Given the description of an element on the screen output the (x, y) to click on. 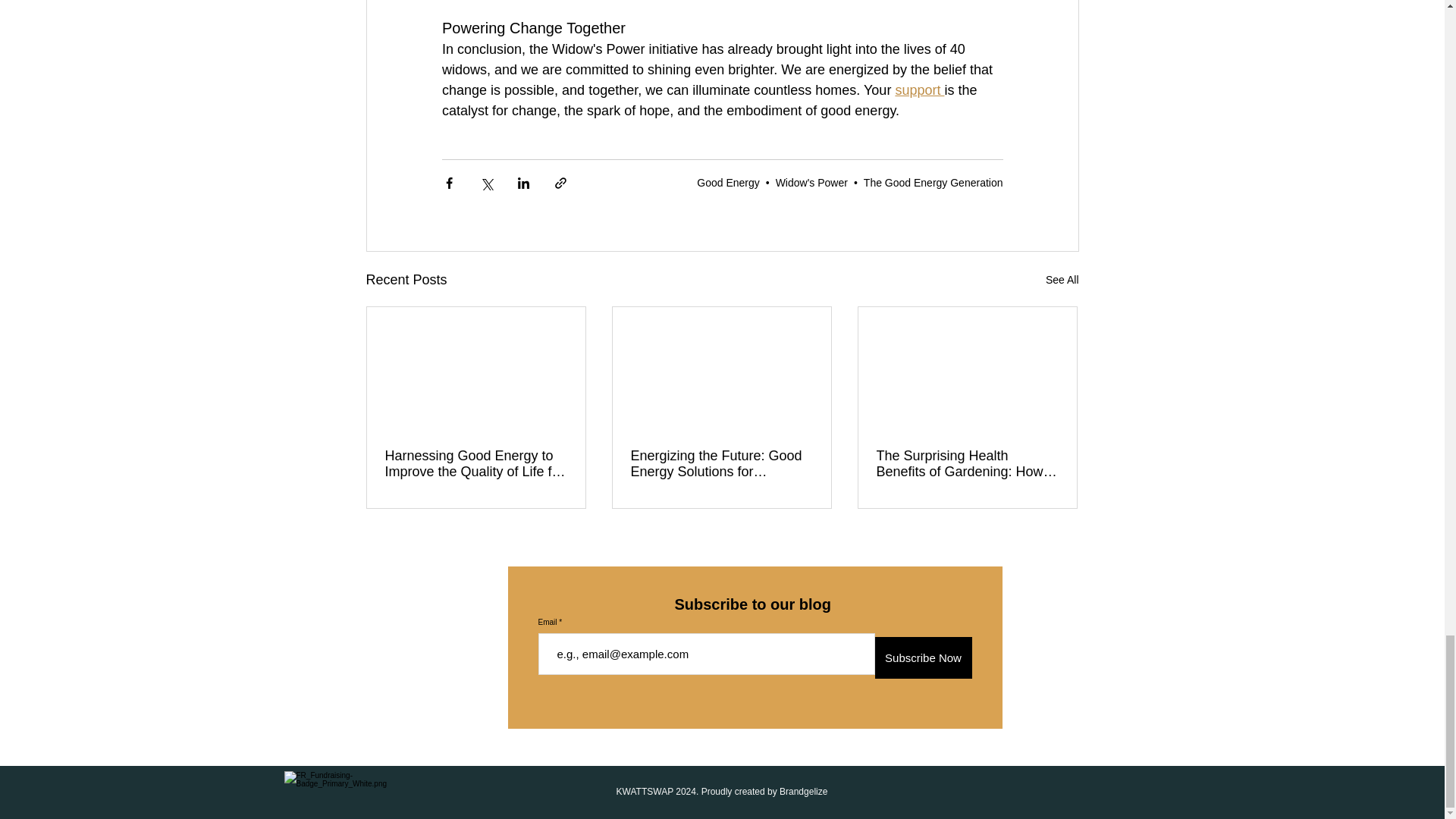
Good Energy (728, 182)
See All (1061, 280)
Widow's Power (811, 182)
The Good Energy Generation (933, 182)
support  (919, 89)
